Given the description of an element on the screen output the (x, y) to click on. 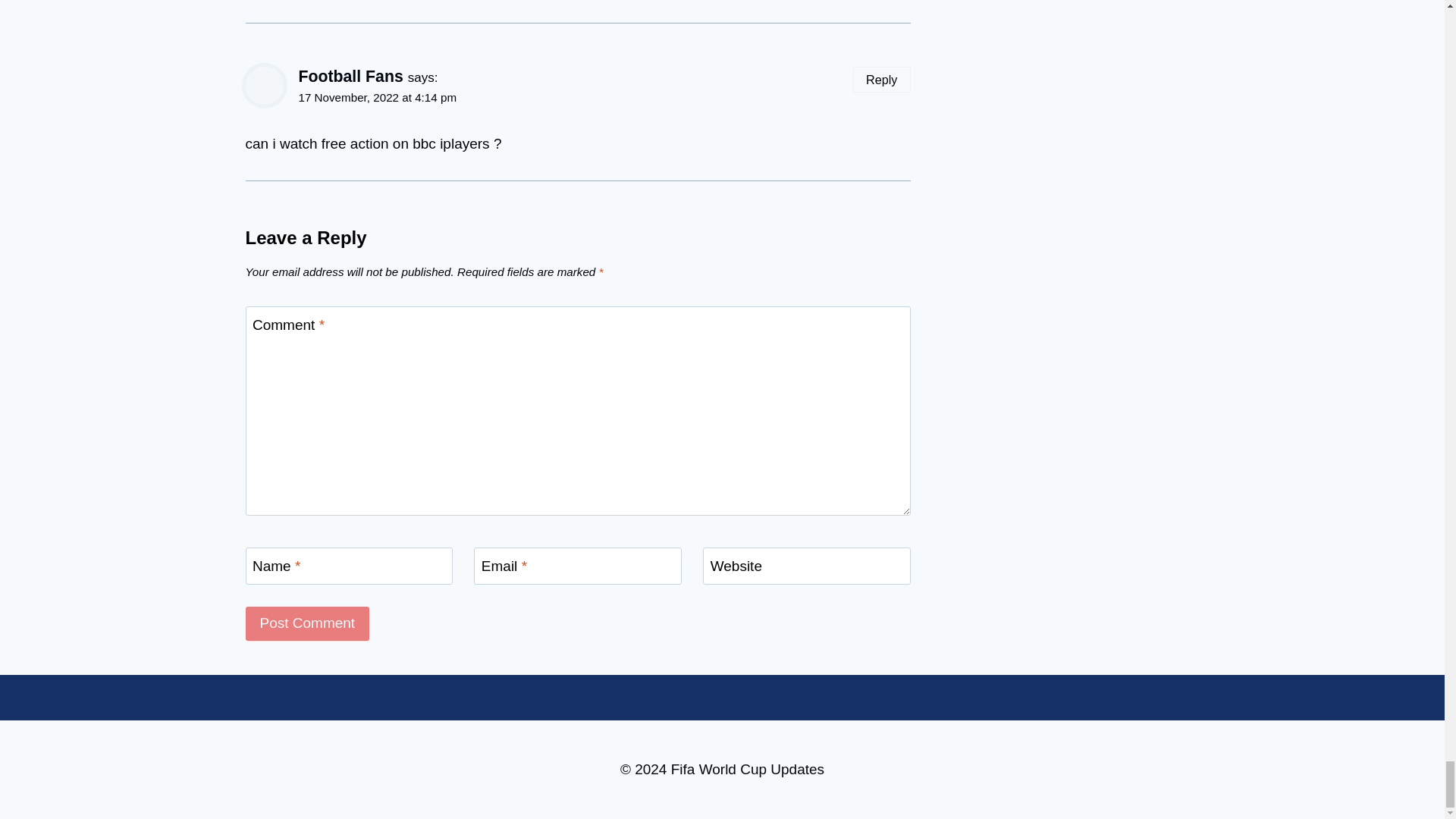
Post Comment (307, 623)
